Given the description of an element on the screen output the (x, y) to click on. 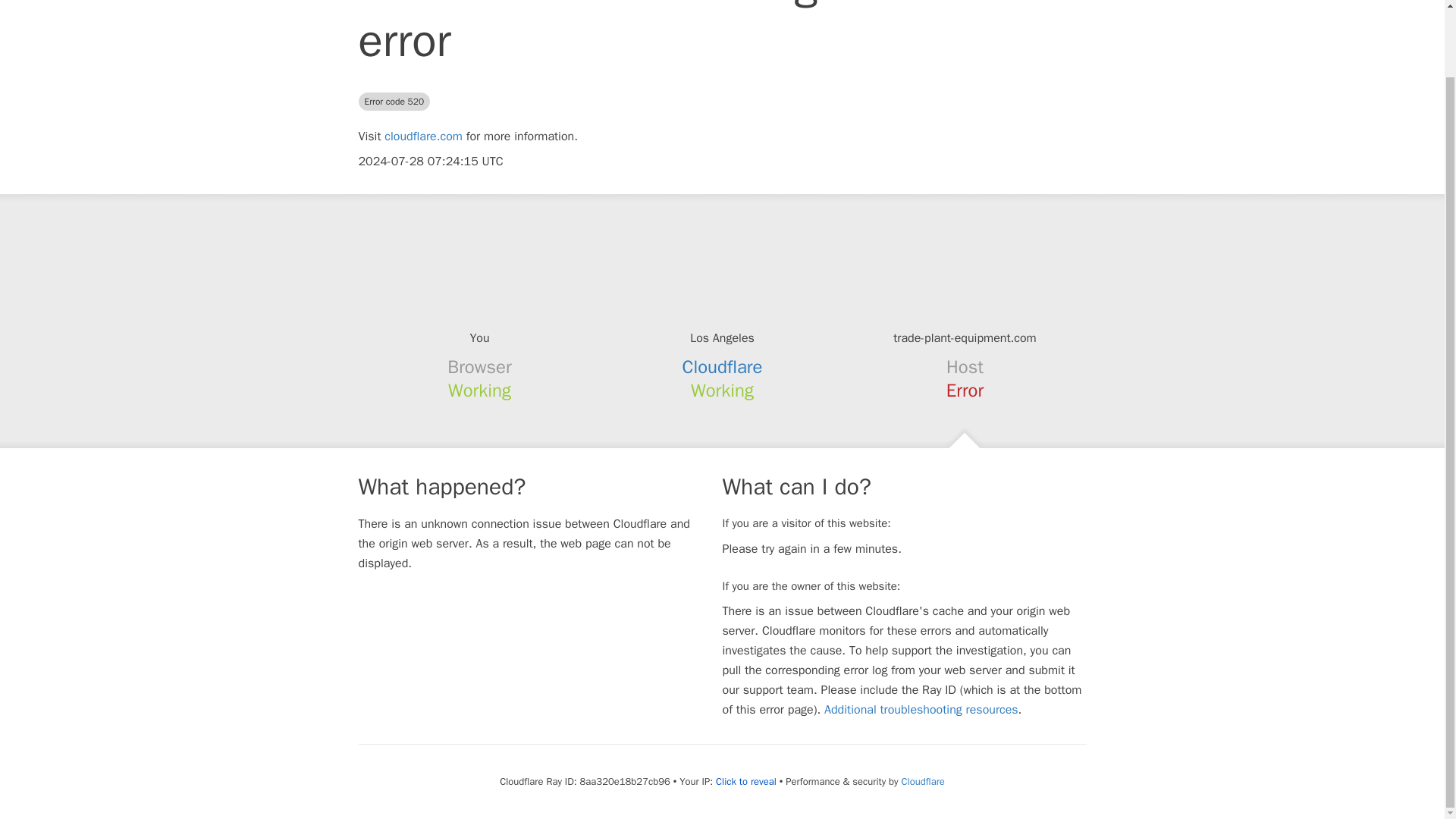
Additional troubleshooting resources (920, 709)
Click to reveal (746, 781)
Cloudflare (722, 366)
Cloudflare (922, 780)
cloudflare.com (423, 136)
